Given the description of an element on the screen output the (x, y) to click on. 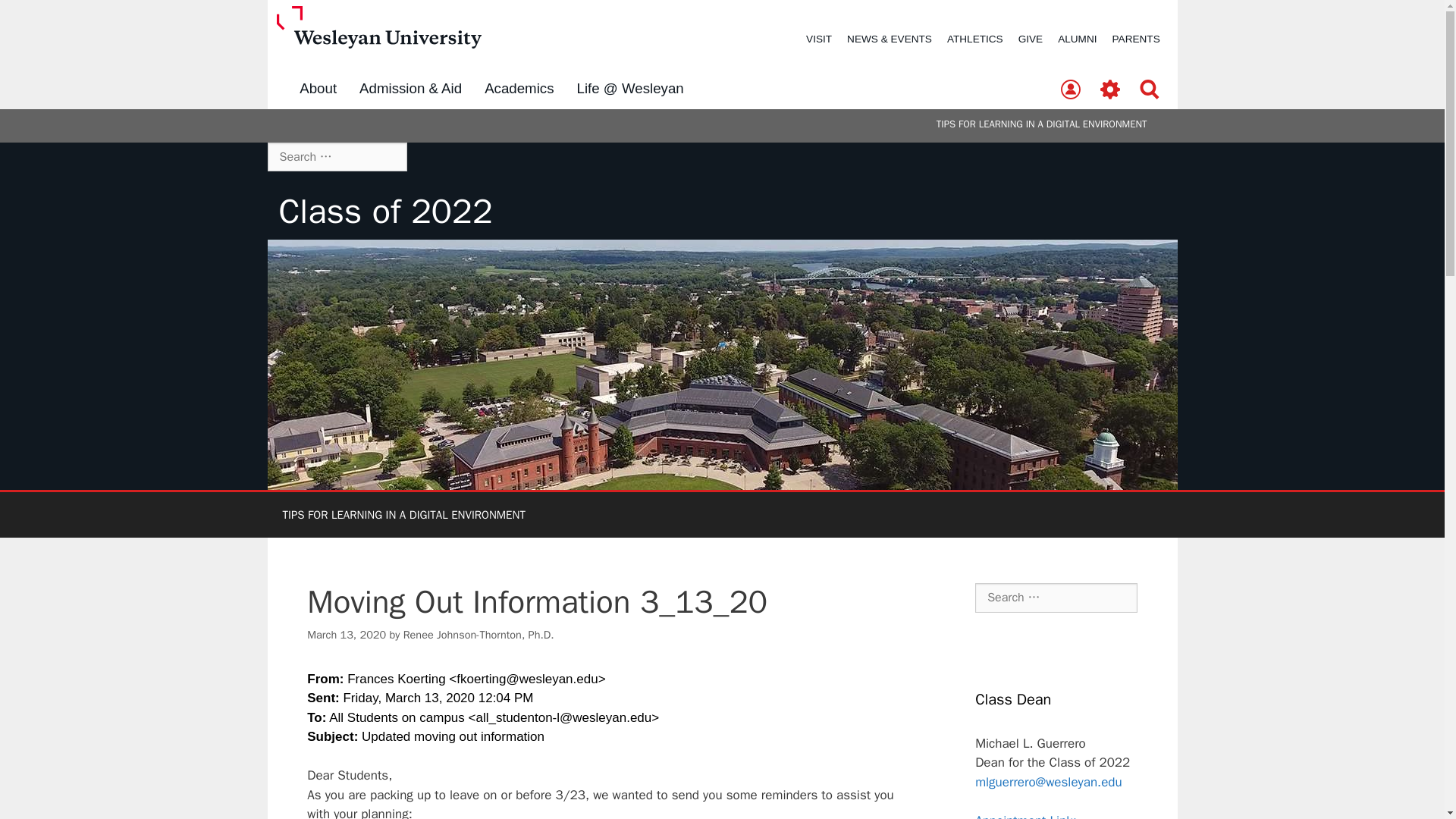
PARENTS (1136, 39)
Directory (1069, 90)
GIVE (1029, 39)
Search (1149, 90)
View all posts by Renee Johnson-Thornton, Ph.D. (478, 634)
Search (35, 18)
ATHLETICS (974, 39)
TIPS FOR LEARNING IN A DIGITAL ENVIRONMENT (1041, 123)
Academics (518, 89)
Search for: (336, 156)
TIPS FOR LEARNING IN A DIGITAL ENVIRONMENT (403, 514)
Tools (1109, 90)
VISIT (818, 39)
Search for: (1056, 597)
About (317, 89)
